Given the description of an element on the screen output the (x, y) to click on. 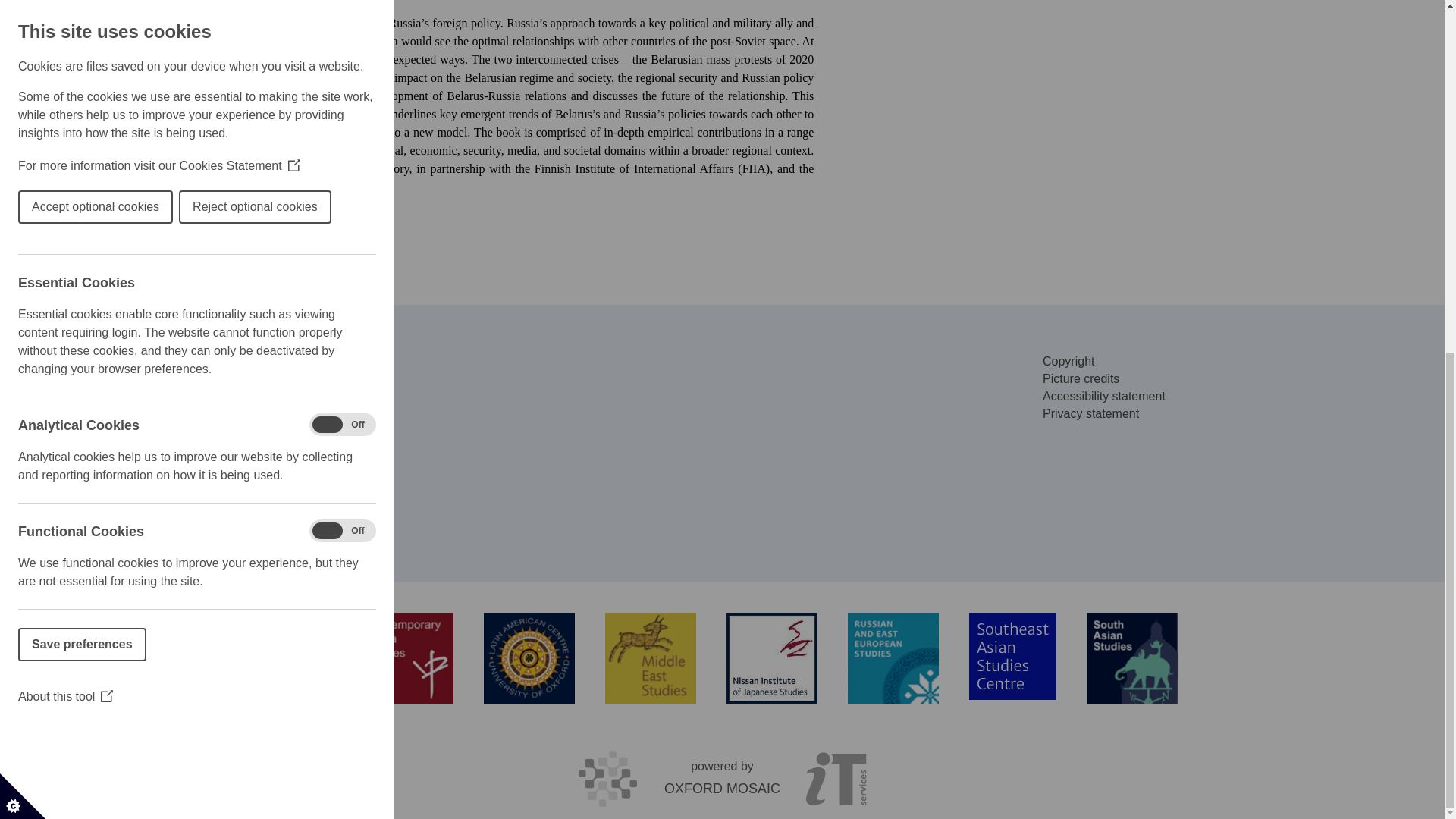
sasc (1013, 656)
Apr27 (1087, 4)
mes (650, 657)
lac (529, 657)
Copyright (1068, 360)
africanstudies (286, 657)
REES (893, 657)
ccsp (407, 657)
here (212, 236)
southasia (1131, 657)
nissan (771, 657)
Accessibility statement (1104, 395)
OSGA (165, 656)
Picture credits (1080, 378)
Privacy statement (1090, 413)
